Given the description of an element on the screen output the (x, y) to click on. 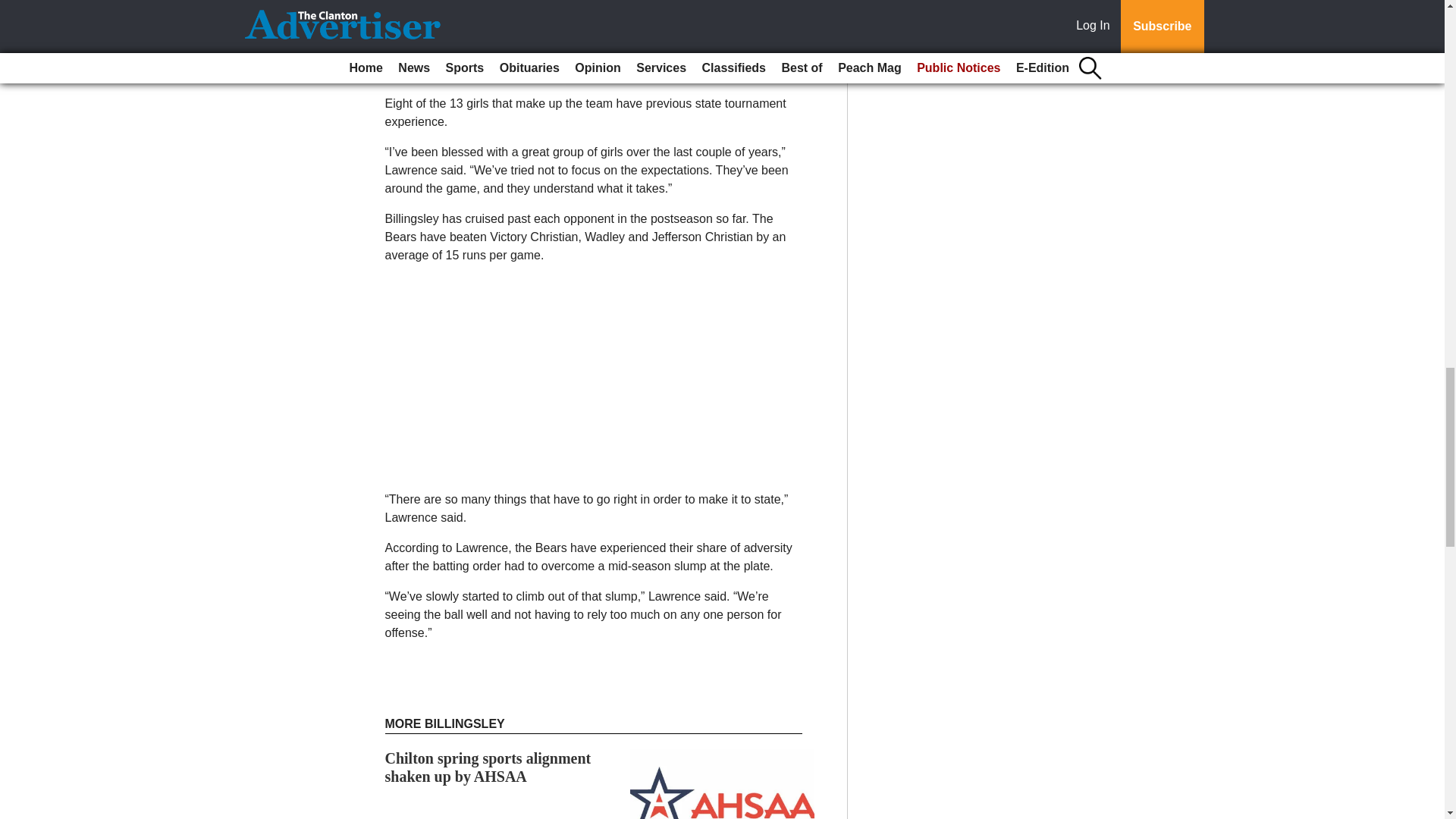
Chilton spring sports alignment shaken up by AHSAA (488, 767)
Chilton spring sports alignment shaken up by AHSAA (488, 767)
